Given the description of an element on the screen output the (x, y) to click on. 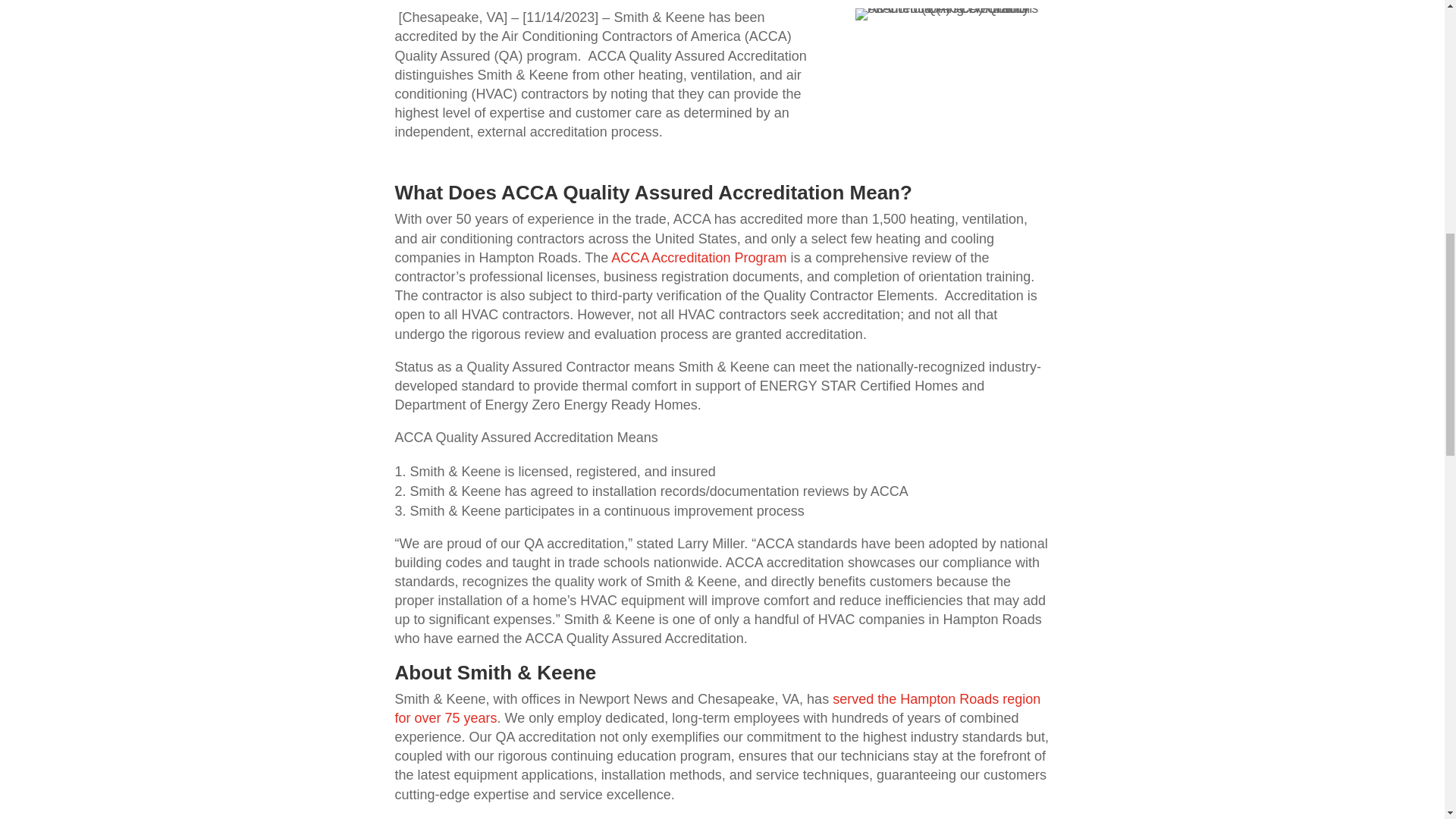
ACCA Accreditation Program (698, 257)
qa-logo (952, 14)
served the Hampton Roads region for over 75 years (717, 708)
